Given the description of an element on the screen output the (x, y) to click on. 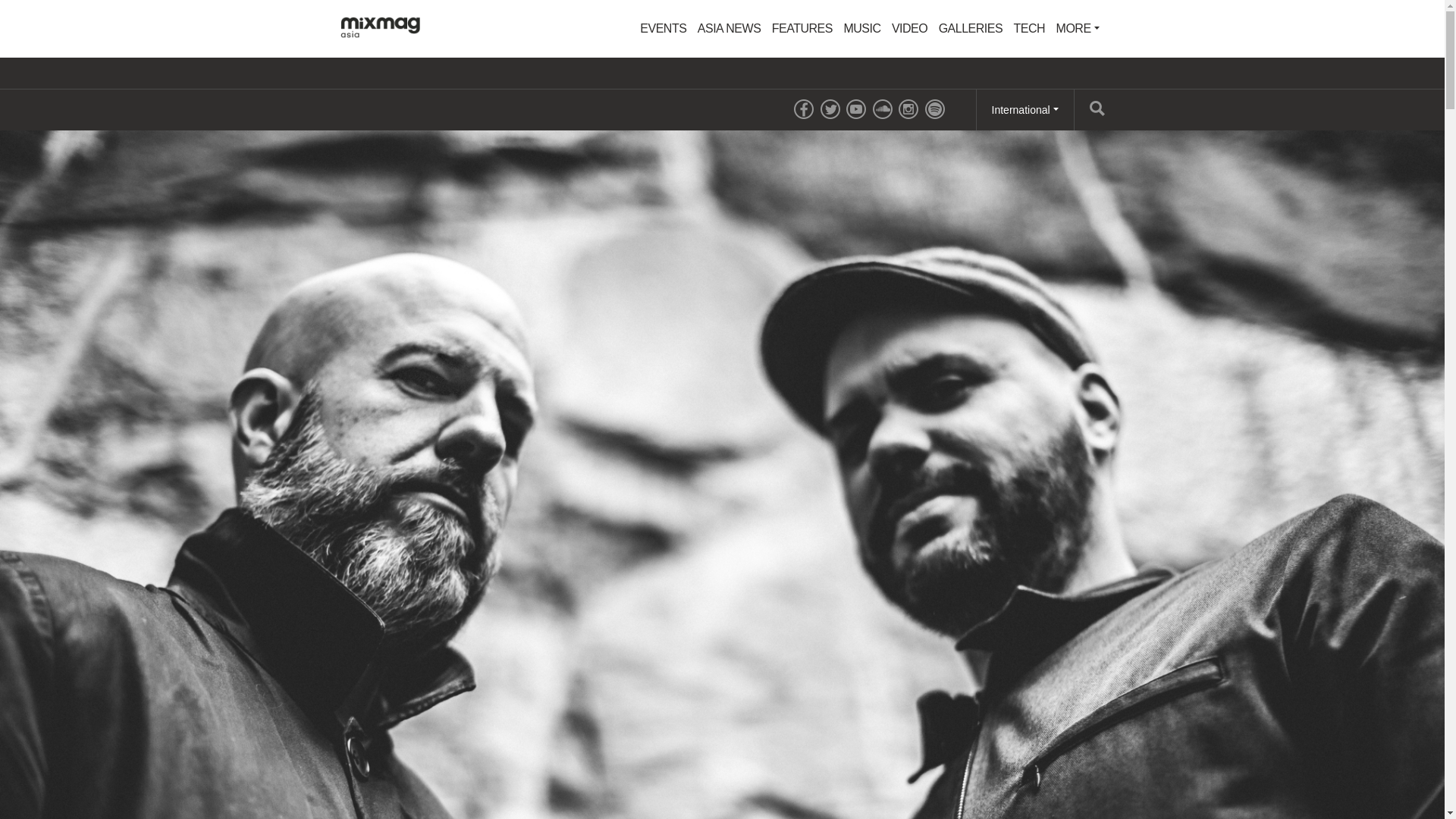
MORE (1078, 28)
ASIA NEWS (730, 28)
FEATURES (802, 28)
GALLERIES (970, 28)
EVENTS (662, 28)
